Given the description of an element on the screen output the (x, y) to click on. 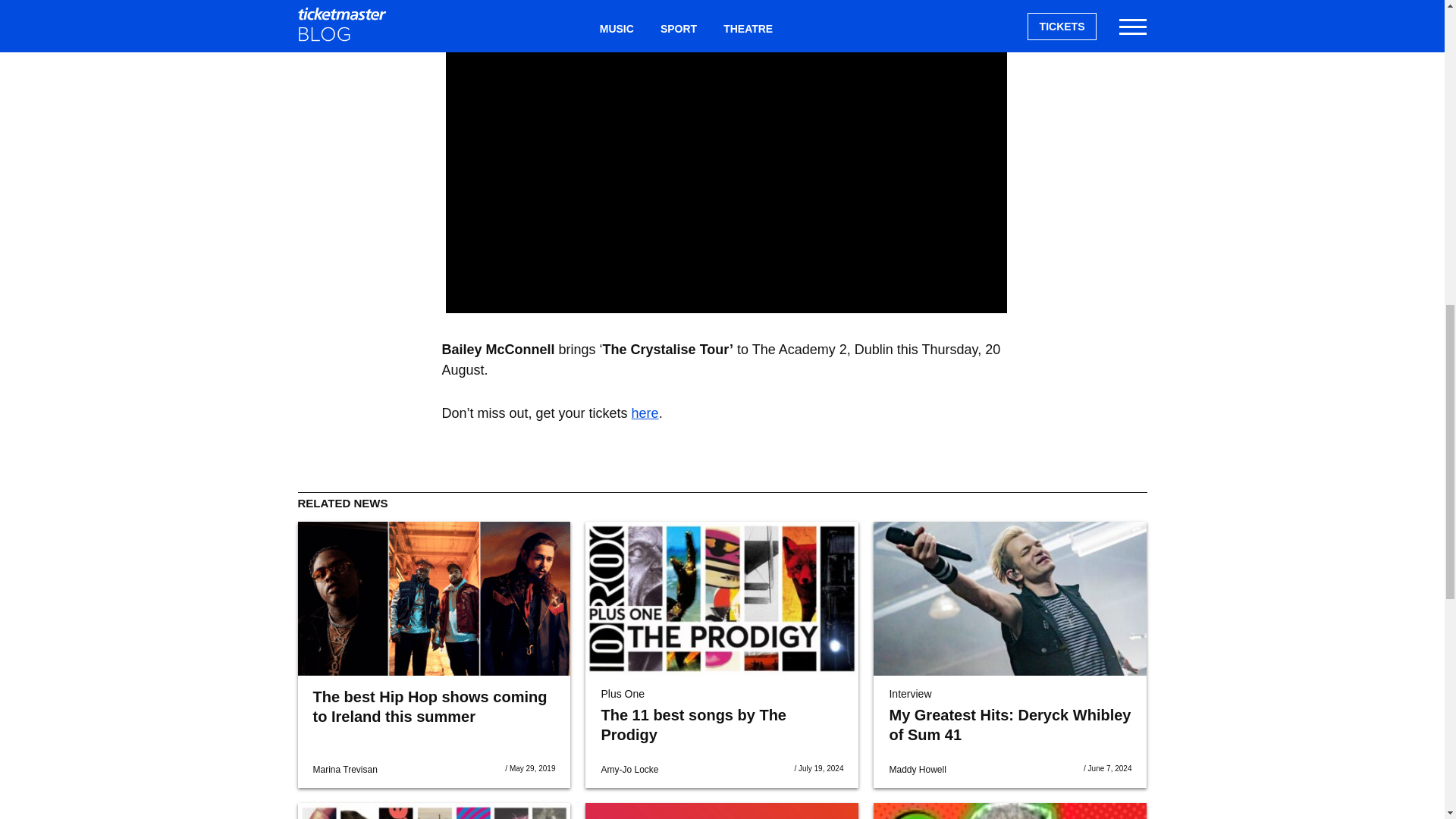
The 11 best songs by The Prodigy (692, 724)
The best Hip Hop shows coming to Ireland this summer (433, 597)
Marina Trevisan (345, 769)
The 11 best songs by The Black Keys (433, 811)
The best Hip Hop shows coming to Ireland this summer (430, 706)
Amy-Jo Locke (628, 769)
Stuck In A Lift: Simon Brodkin (1010, 811)
The 11 best songs by The Prodigy (722, 597)
My Greatest Hits: Deryck Whibley of Sum 41 (1009, 724)
My Greatest Hits: Deryck Whibley of Sum 41 (1010, 597)
